Given the description of an element on the screen output the (x, y) to click on. 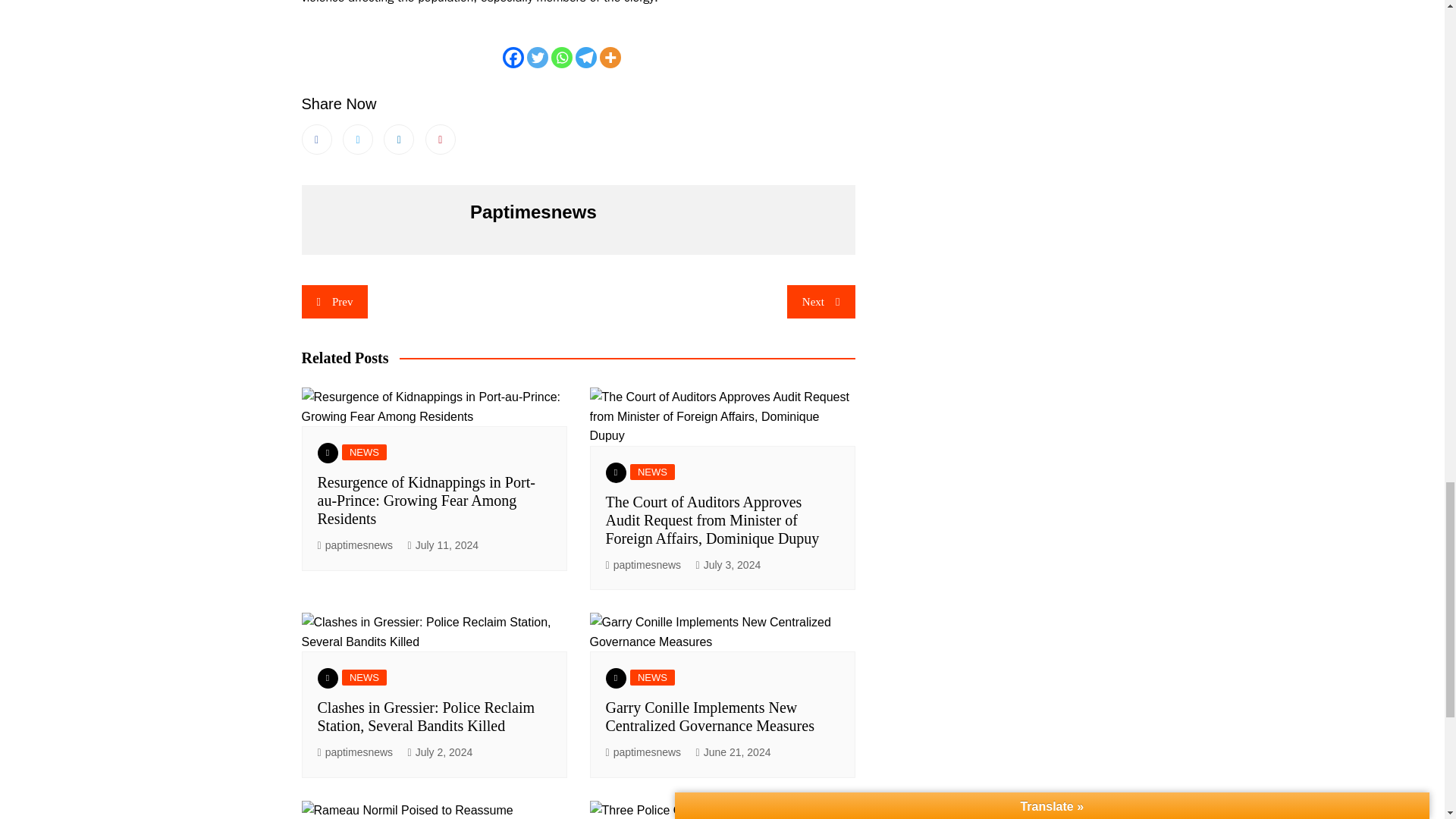
Facebook (513, 56)
Whatsapp (561, 56)
Telegram (585, 56)
Facebook (316, 139)
More (610, 56)
Twitter (537, 56)
